Given the description of an element on the screen output the (x, y) to click on. 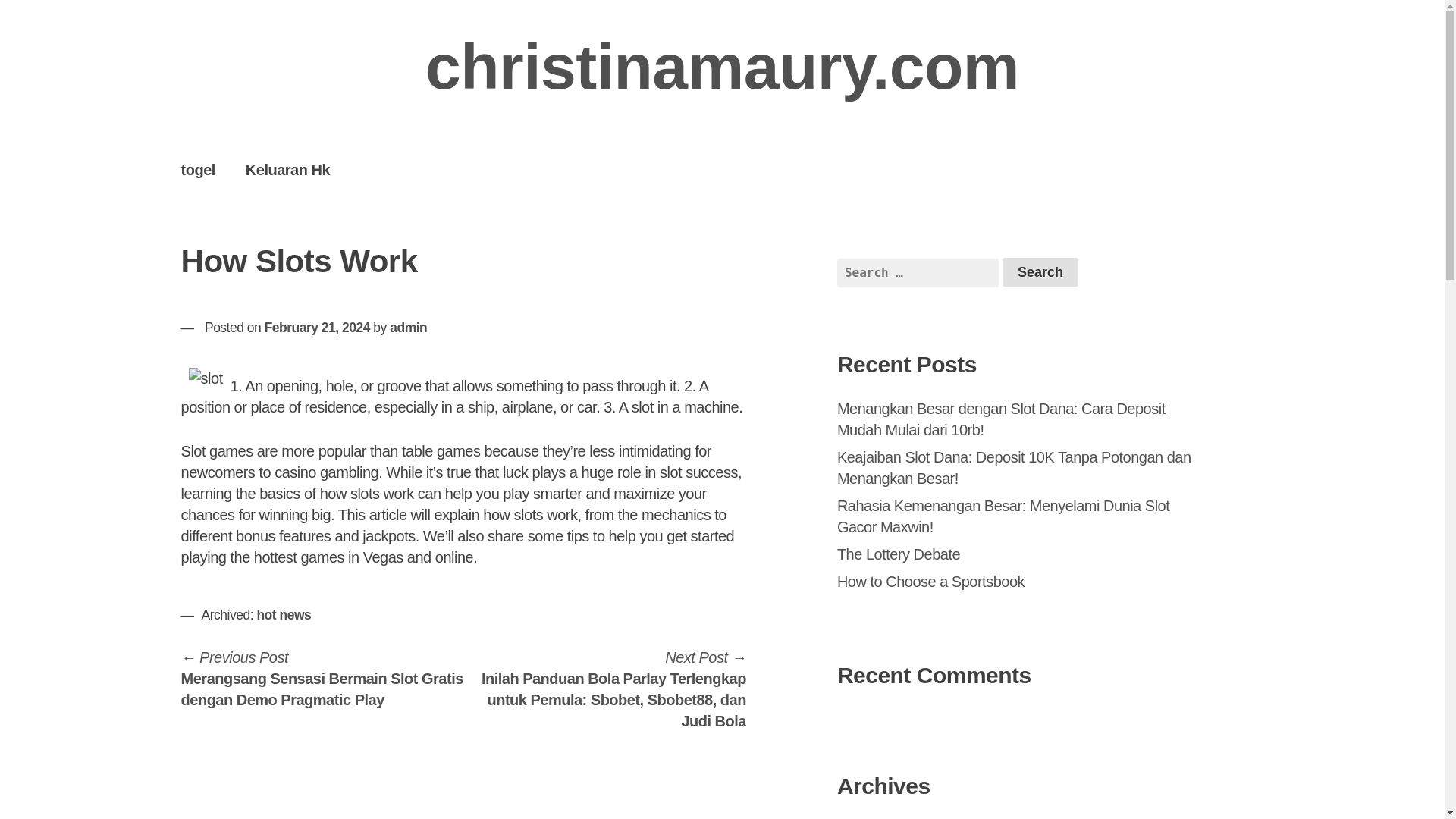
Rahasia Kemenangan Besar: Menyelami Dunia Slot Gacor Maxwin! (1003, 516)
Search (1040, 271)
February 21, 2024 (316, 327)
The Lottery Debate (898, 554)
Search (1040, 271)
admin (408, 327)
Keluaran Hk (287, 169)
